Given the description of an element on the screen output the (x, y) to click on. 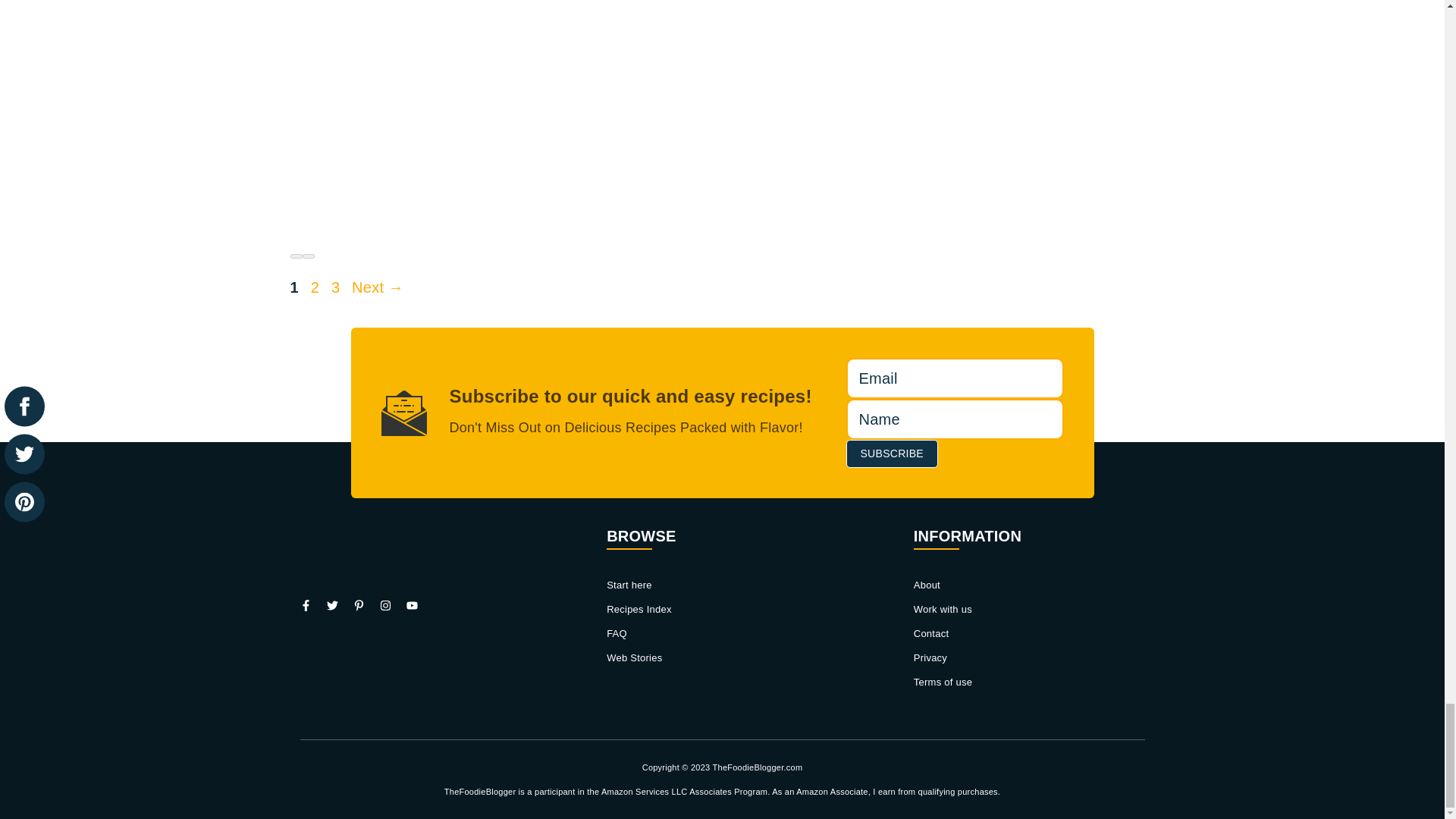
thefoodieblogger-logo-white (390, 568)
